Given the description of an element on the screen output the (x, y) to click on. 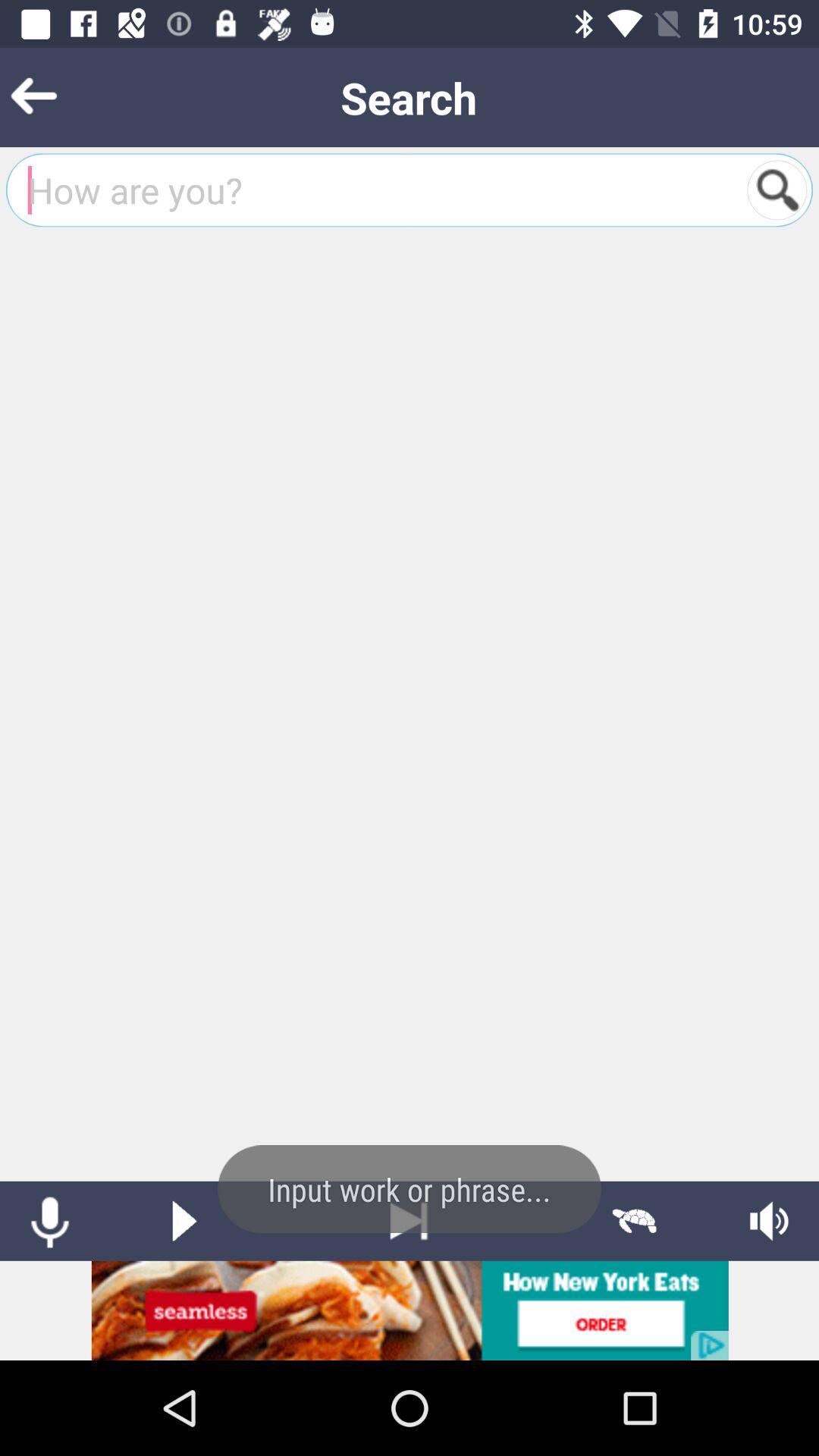
typing box (377, 190)
